Given the description of an element on the screen output the (x, y) to click on. 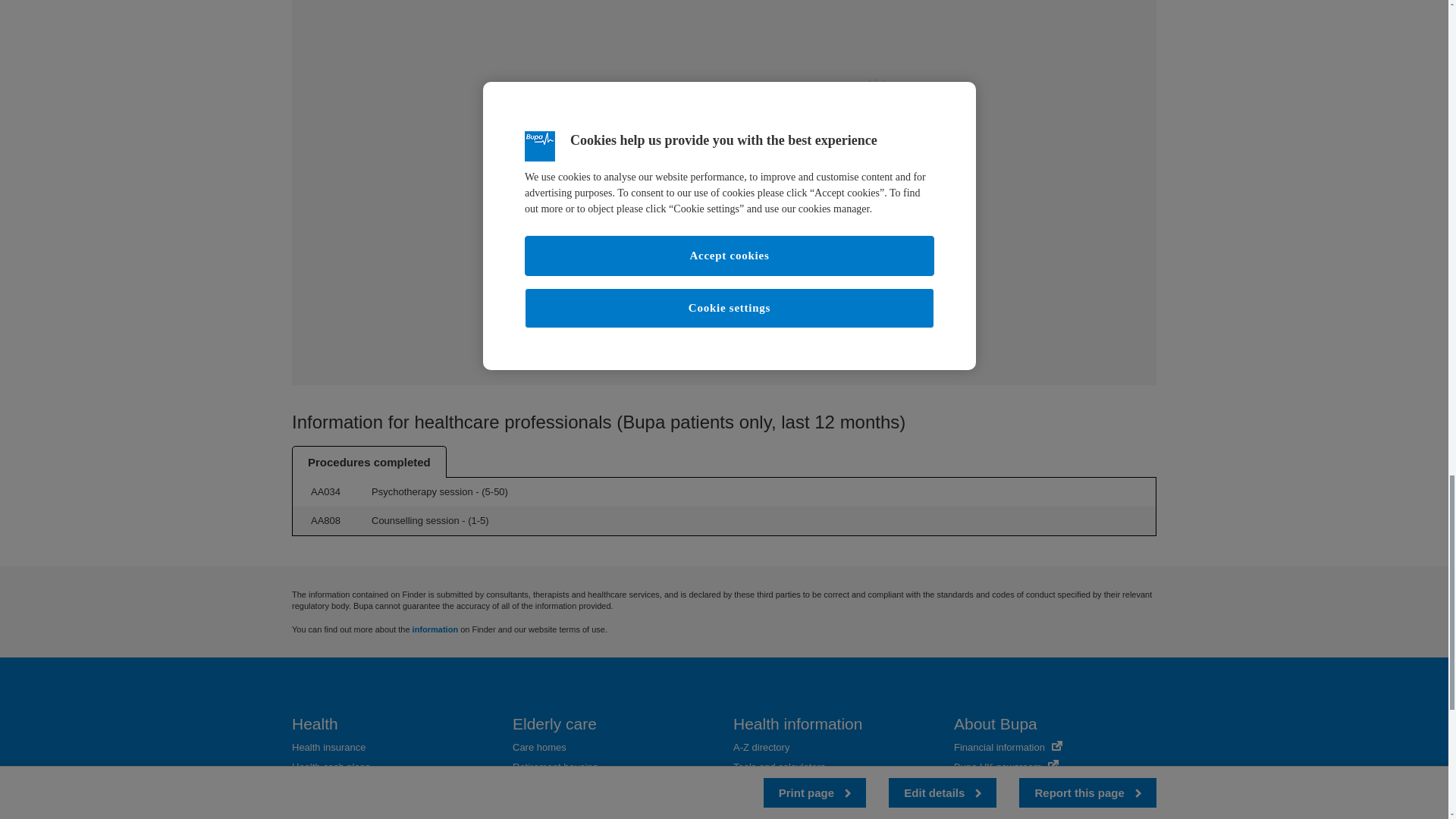
Pay as you go healthcare (347, 805)
information (435, 628)
Health (314, 723)
Health insurance (329, 747)
Procedures completed (369, 461)
Less than 5 in the last year for Bupa members (478, 520)
Health cash plans (330, 767)
Health assessments (336, 785)
